Given the description of an element on the screen output the (x, y) to click on. 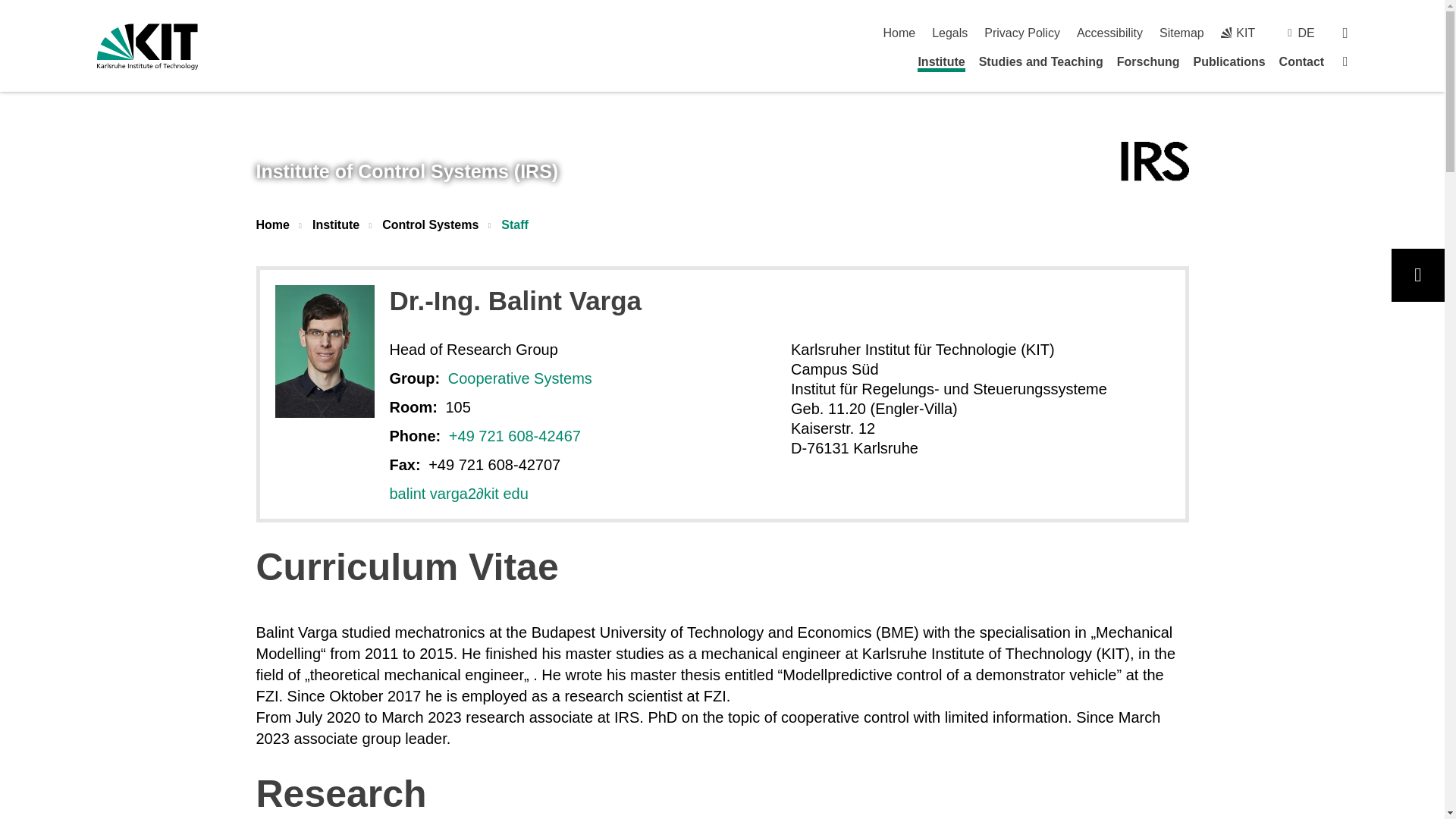
Sitemap (1181, 32)
Privacy Policy (1021, 32)
Home (898, 32)
KIT (1238, 32)
Accessibility (1109, 32)
KIT-Homepage (1238, 32)
KIT-Homepage (147, 46)
Legals (949, 32)
DE (1305, 32)
Institute (940, 63)
